Given the description of an element on the screen output the (x, y) to click on. 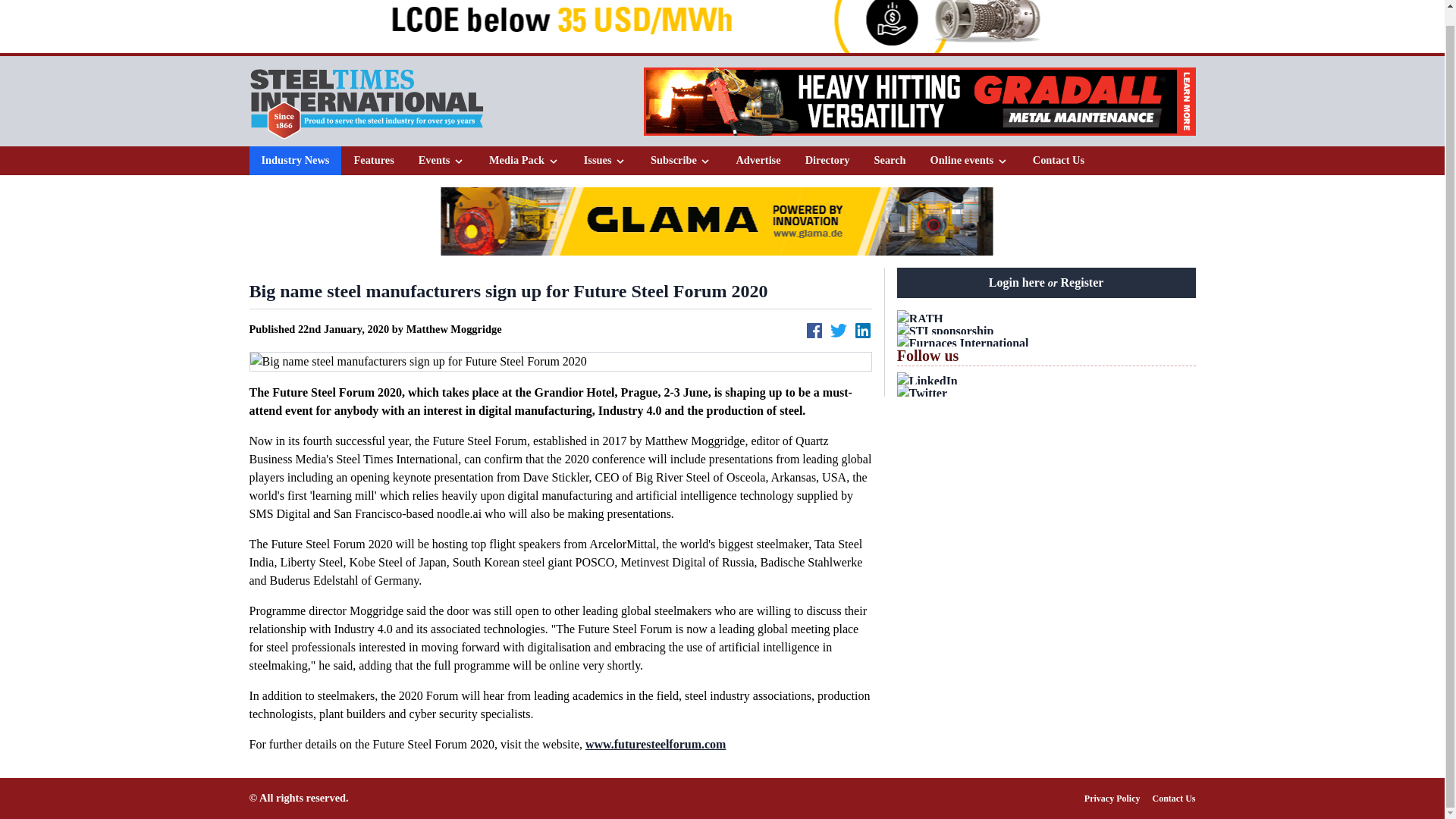
Media Pack (524, 160)
Events (441, 160)
Media Pack (524, 160)
Twitter (1045, 393)
Subscribe (680, 160)
Issues (604, 160)
Solar Turbines (719, 26)
Share on LinkedIn (862, 330)
Contact Us (1058, 160)
Share on Twitter (838, 330)
